Given the description of an element on the screen output the (x, y) to click on. 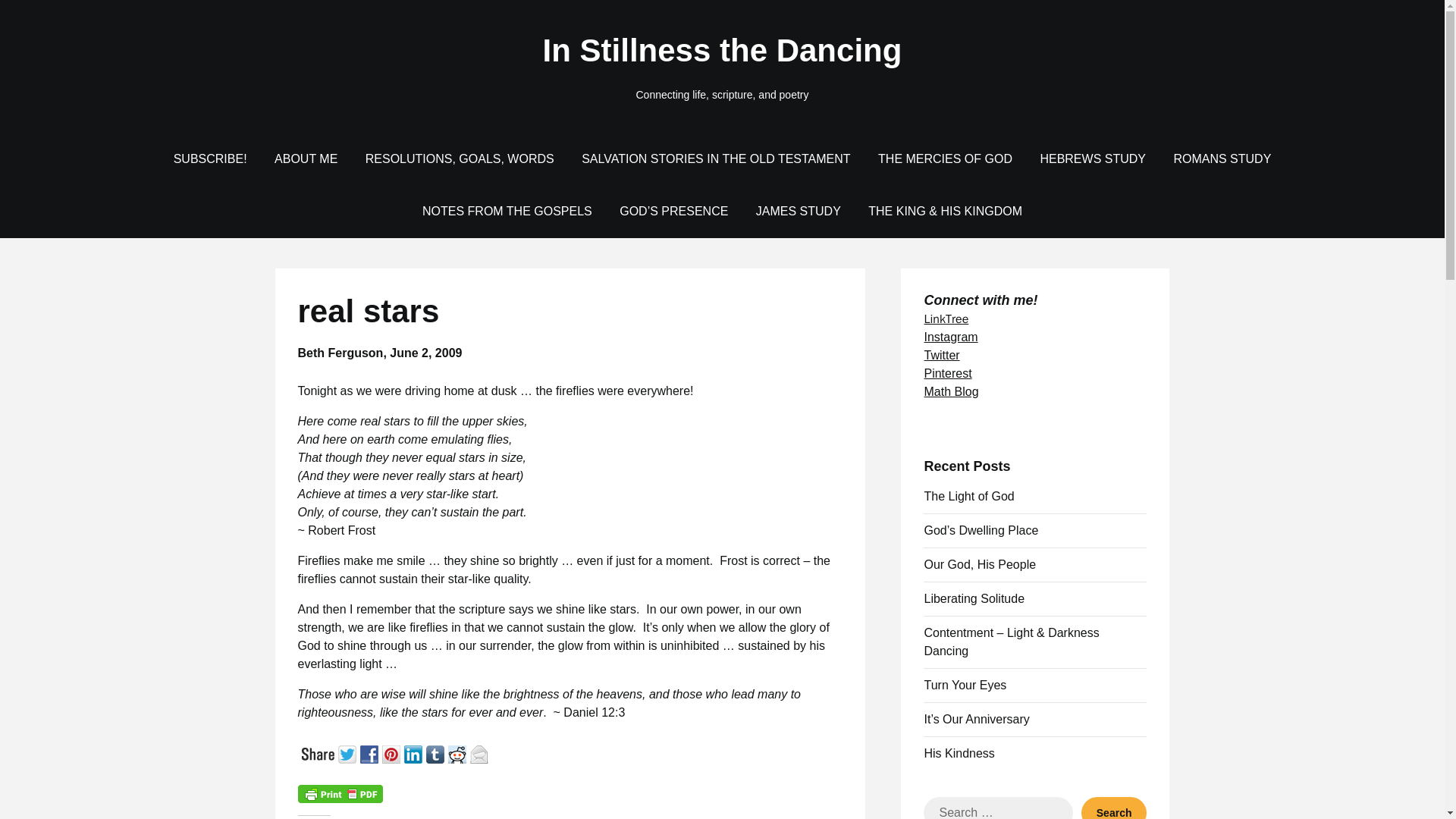
RESOLUTIONS, GOALS, WORDS (459, 159)
In Stillness the Dancing (722, 51)
June 2, 2009 (425, 352)
Linkedin (414, 752)
SALVATION STORIES IN THE OLD TESTAMENT (715, 159)
Twitter (348, 752)
Search (1114, 807)
ABOUT ME (305, 159)
Email (481, 752)
SUBSCRIBE! (210, 159)
